Given the description of an element on the screen output the (x, y) to click on. 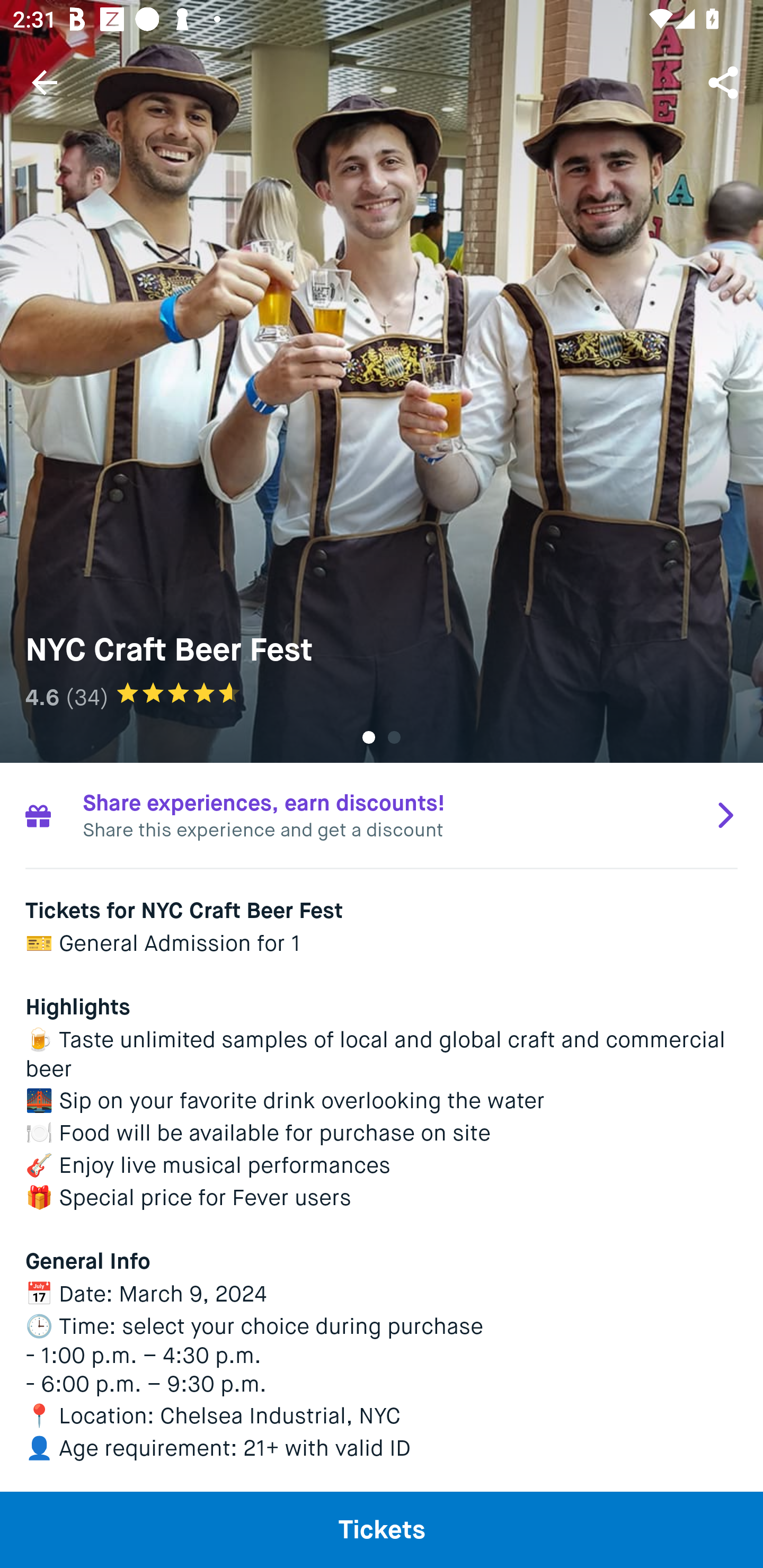
Navigate up (44, 82)
Share (724, 81)
(34) (86, 697)
Tickets (381, 1529)
